Given the description of an element on the screen output the (x, y) to click on. 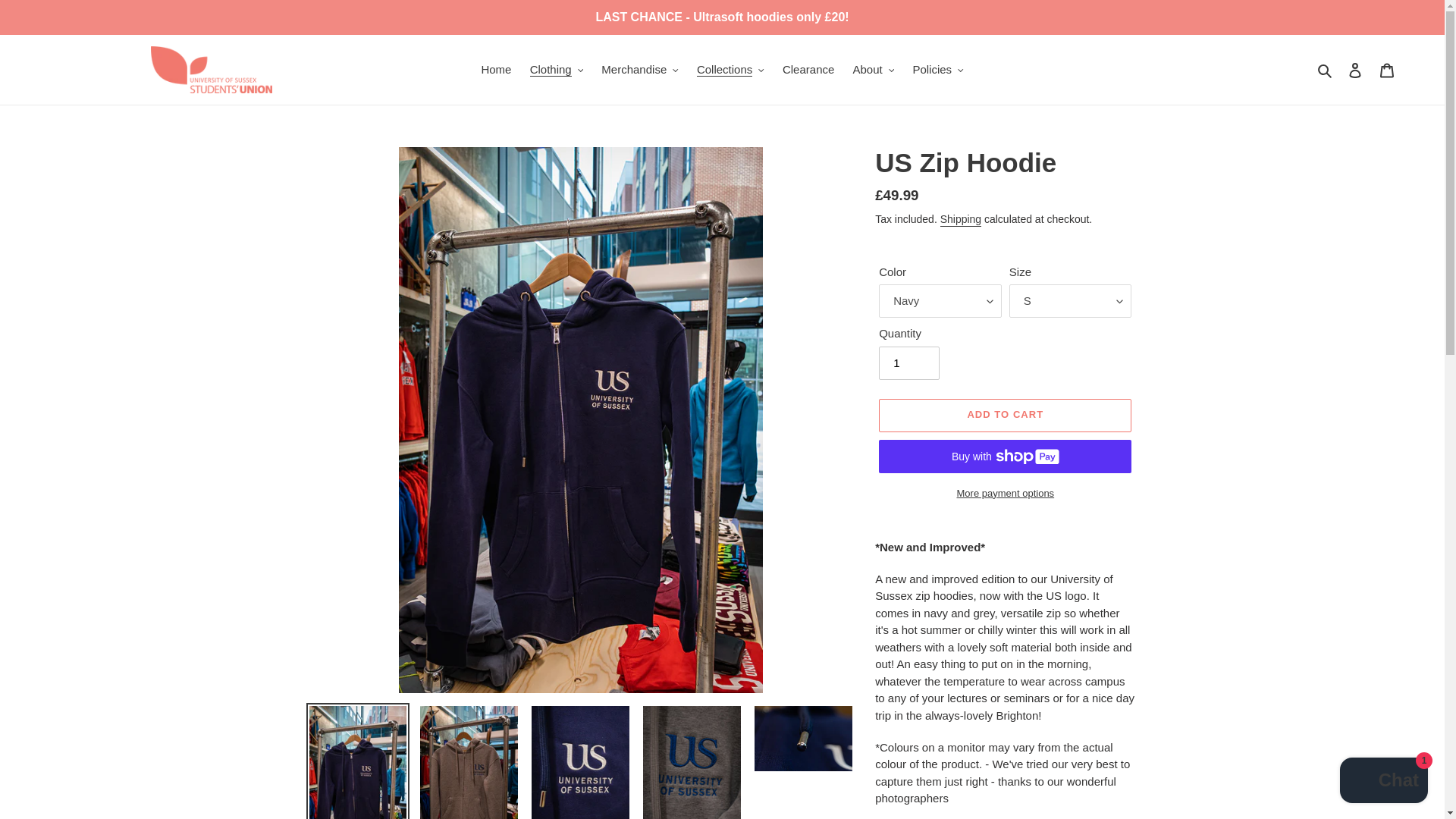
1 (909, 363)
Home (495, 69)
Merchandise (639, 69)
Clothing (556, 69)
Shopify online store chat (1383, 781)
